Given the description of an element on the screen output the (x, y) to click on. 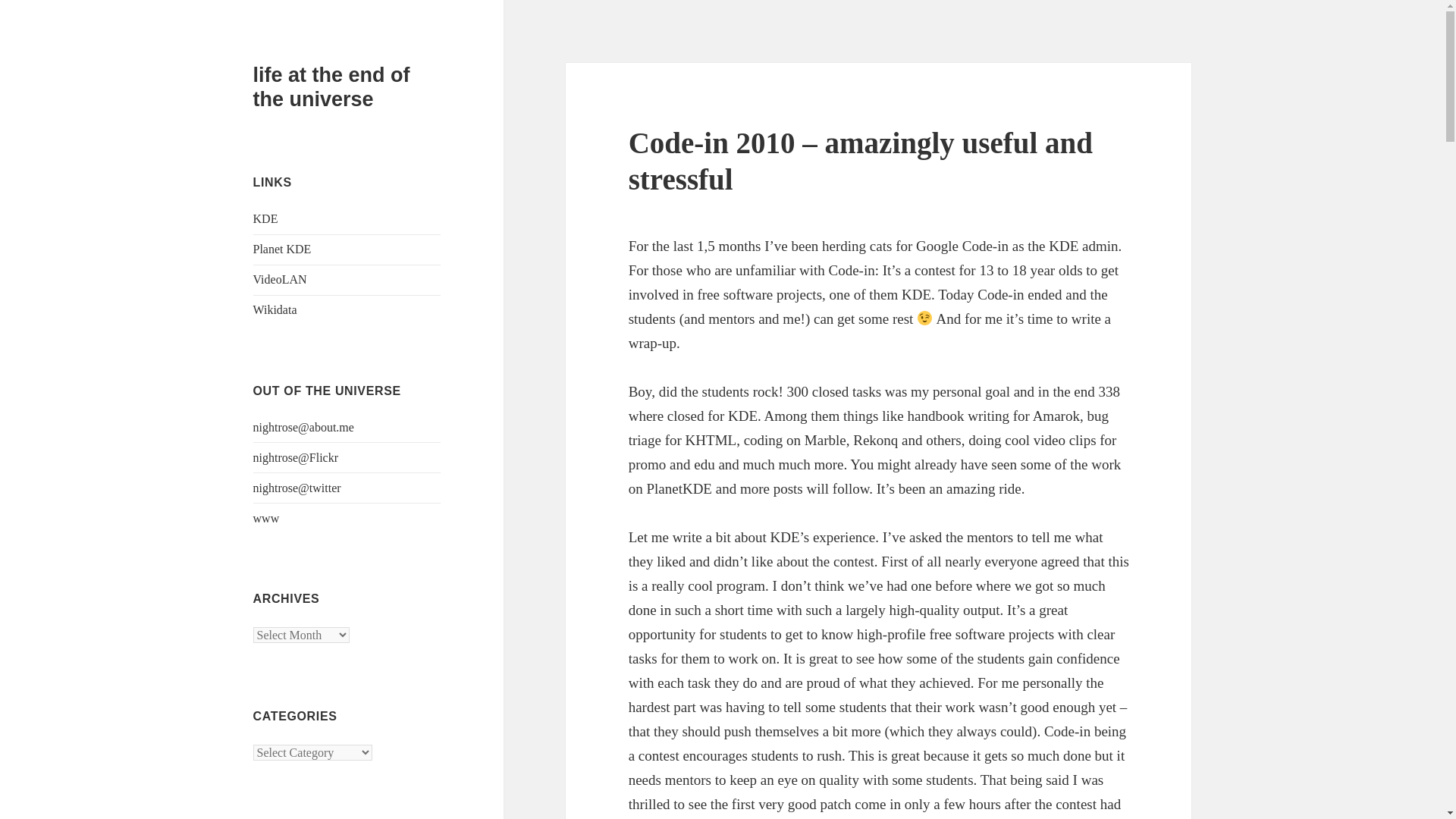
KDE (265, 218)
life at the end of the universe (331, 86)
Planet KDE (282, 248)
www (266, 517)
VideoLAN (280, 278)
Wikidata (275, 309)
